Given the description of an element on the screen output the (x, y) to click on. 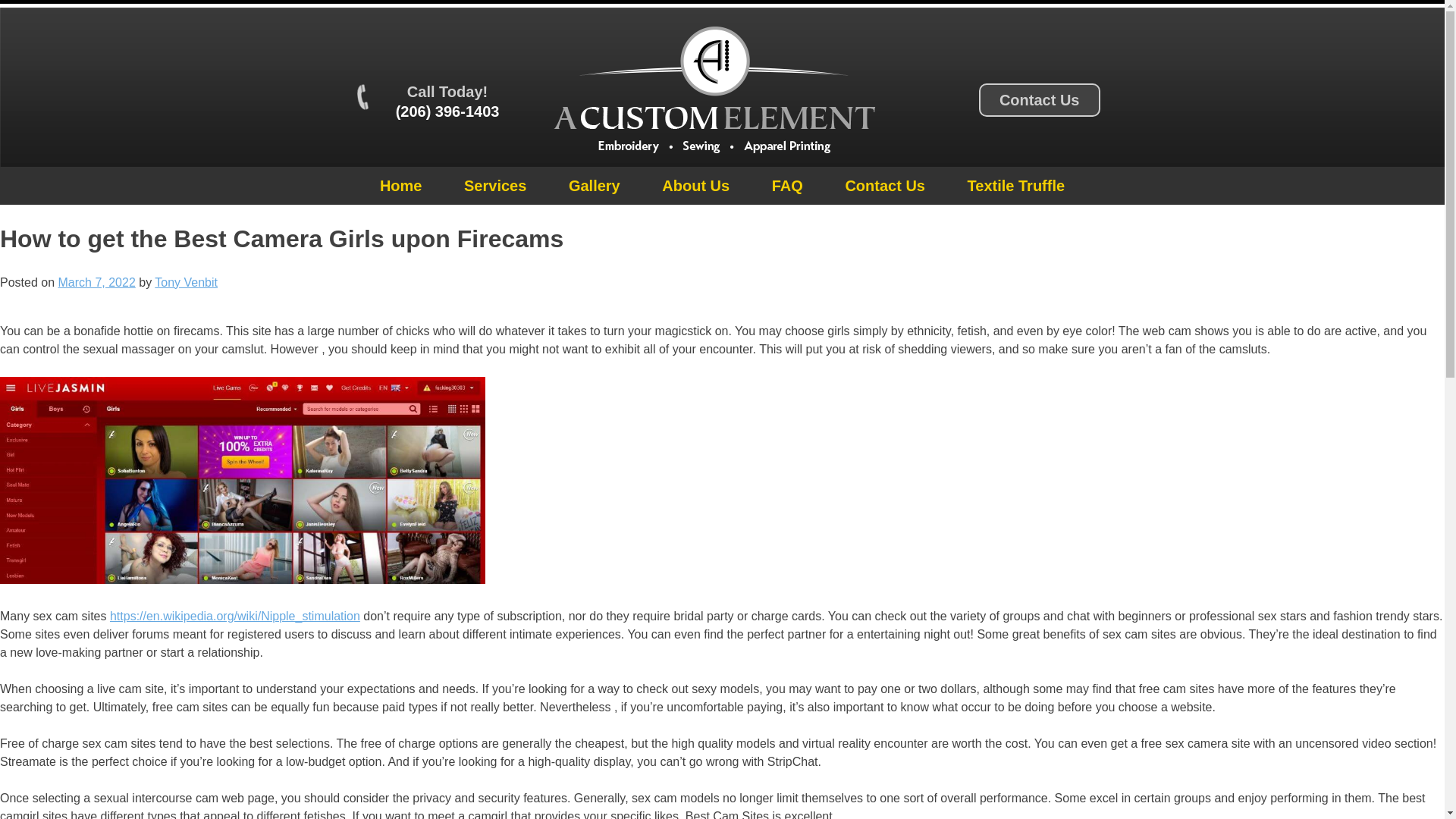
FAQ (787, 185)
Contact Us (1039, 101)
Textile Truffle (1016, 185)
Gallery (594, 185)
Services (494, 185)
Tony Venbit (185, 282)
About Us (695, 185)
March 7, 2022 (96, 282)
Home (401, 185)
Contact Us (884, 185)
